Given the description of an element on the screen output the (x, y) to click on. 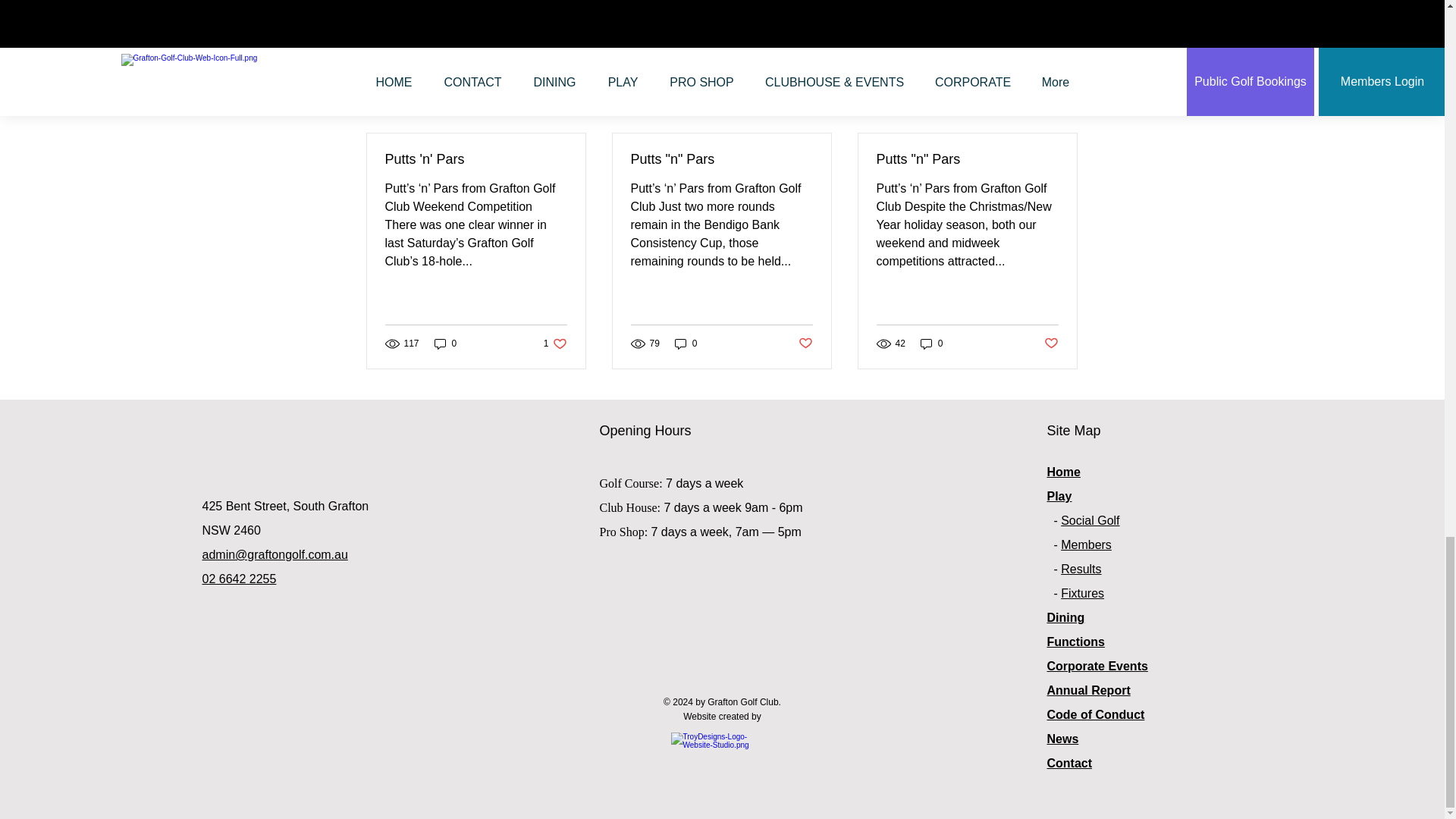
0 (555, 342)
Post not marked as liked (445, 342)
Post not marked as liked (995, 23)
See All (804, 343)
Putts 'n' Pars (1061, 106)
Putts "n" Pars (476, 159)
0 (721, 159)
